Given the description of an element on the screen output the (x, y) to click on. 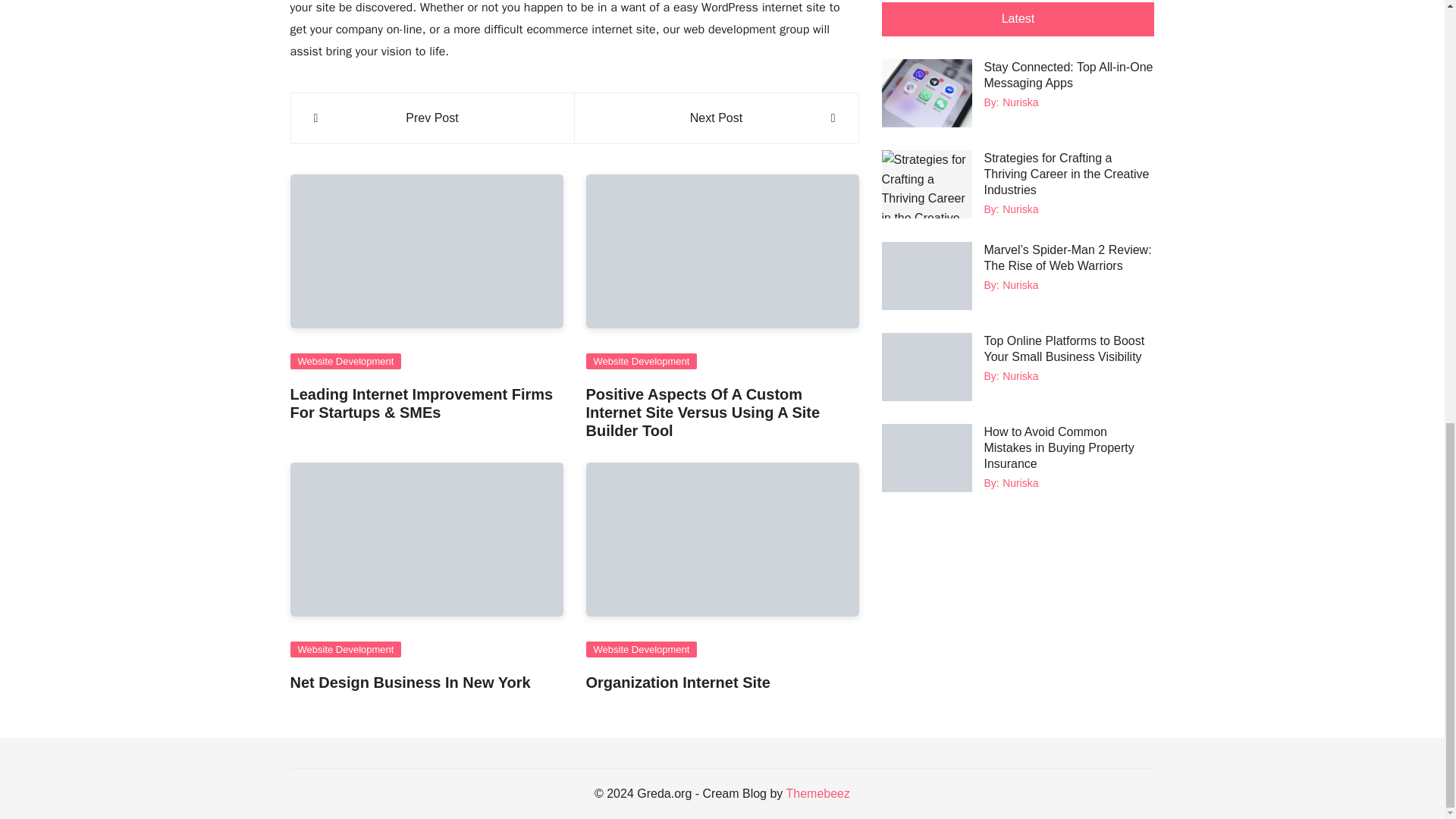
Prev Post (432, 117)
Website Development (345, 360)
Next Post (715, 117)
Website Development (641, 360)
